Given the description of an element on the screen output the (x, y) to click on. 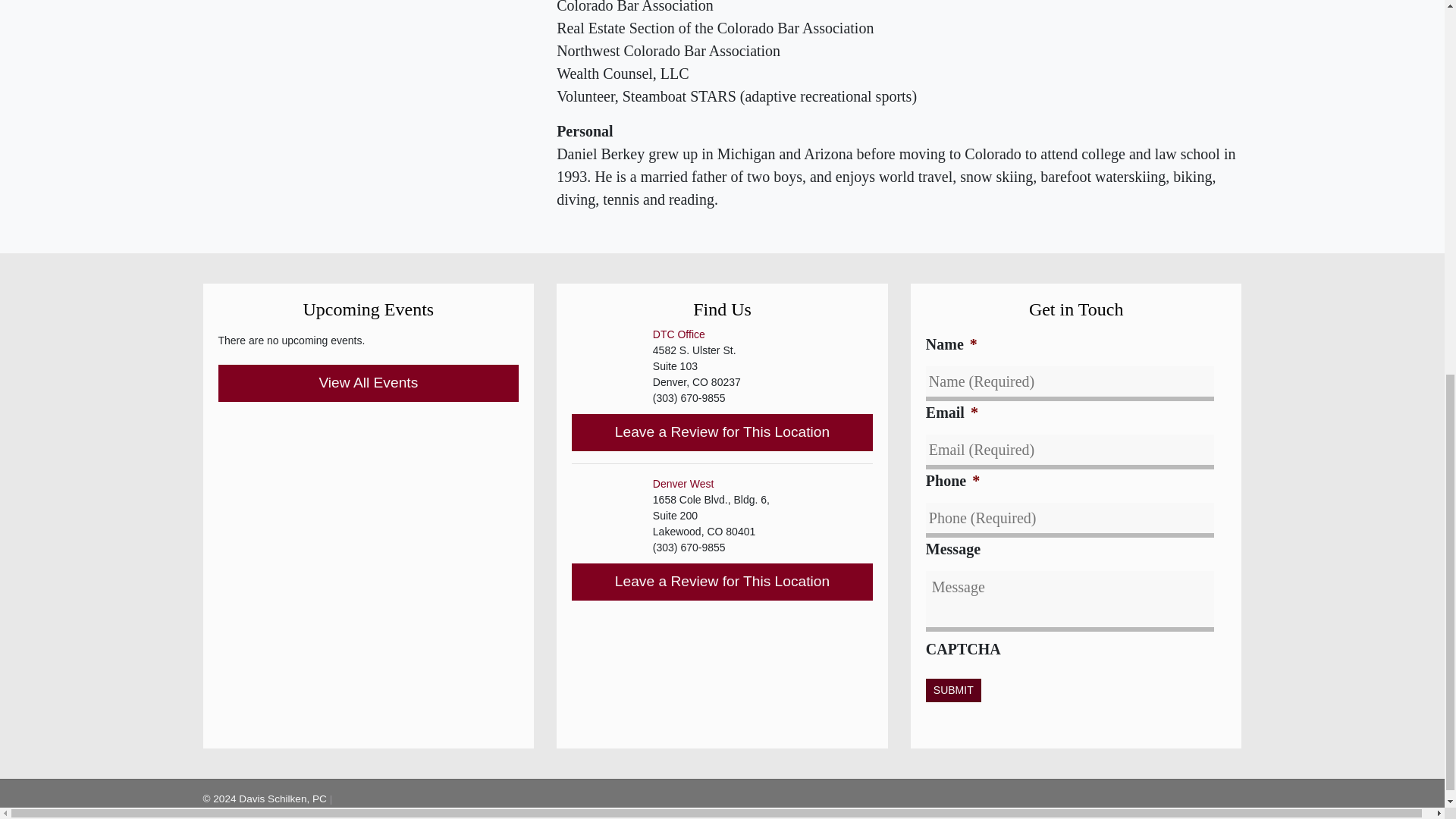
Submit (953, 689)
View All Events (368, 383)
Leave a Review for This Location (722, 432)
Denver West (683, 483)
Submit (953, 689)
DTC Office (678, 334)
Davis Schilken, PC (282, 798)
Leave a Review for This Location (722, 581)
